Given the description of an element on the screen output the (x, y) to click on. 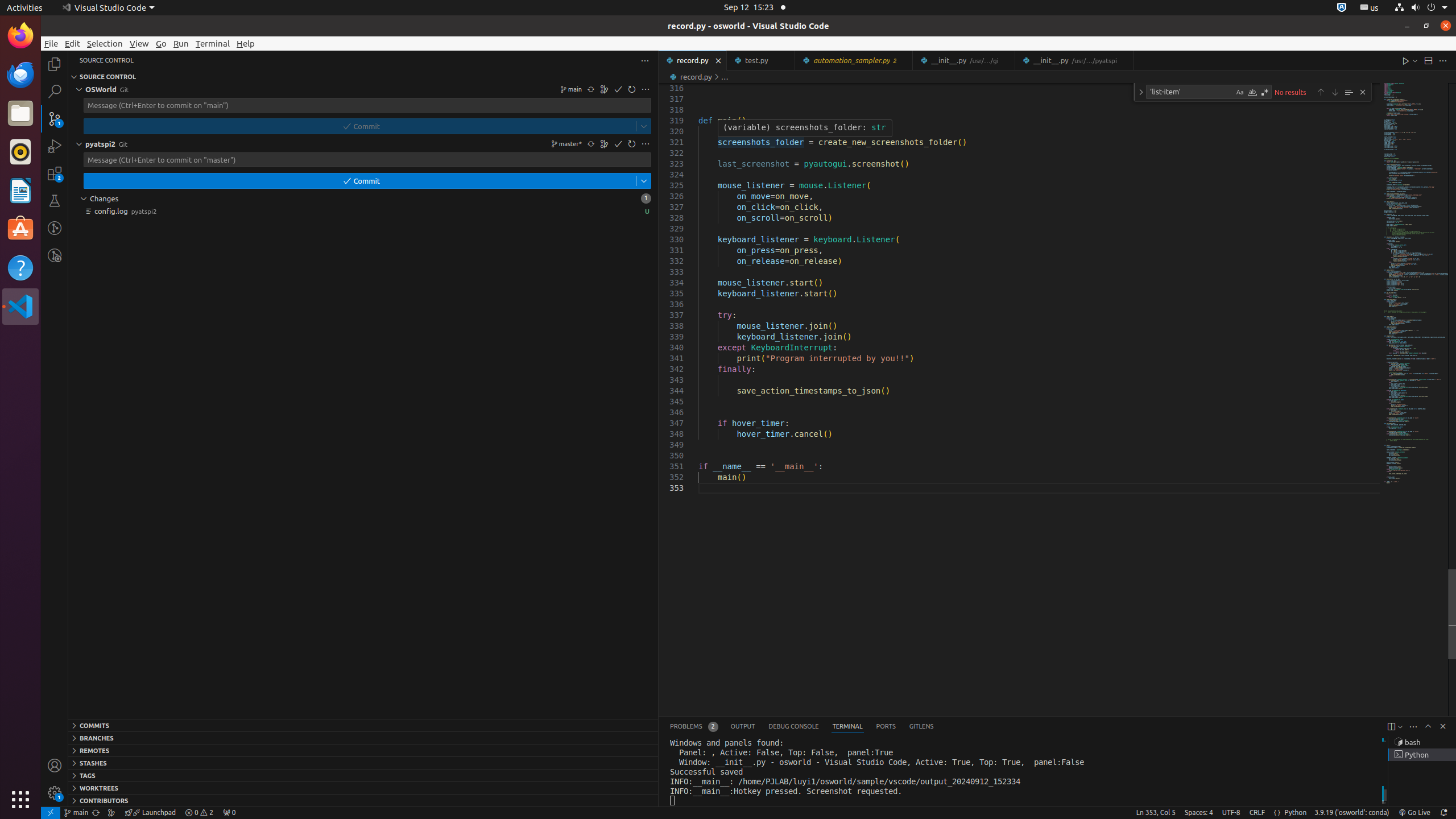
Views and More Actions... Element type: push-button (1413, 726)
rocket gitlens-unplug Launchpad, GitLens Launchpad ᴘʀᴇᴠɪᴇᴡ    &mdash;    [$(question)](command:gitlens.launchpad.indicator.action?%22info%22 "What is this?") [$(gear)](command:workbench.action.openSettings?%22gitlens.launchpad%22 "Settings")  |  [$(circle-slash) Hide](command:gitlens.launchpad.indicator.action?%22hide%22 "Hide") --- [Launchpad](command:gitlens.launchpad.indicator.action?%info%22 "Learn about Launchpad") organizes your pull requests into actionable groups to help you focus and keep your team unblocked. It's always accessible using the `GitLens: Open Launchpad` command from the Command Palette. --- [Connect an integration](command:gitlens.showLaunchpad?%7B%22source%22%3A%22launchpad-indicator%22%7D "Connect an integration") to get started. Element type: push-button (150, 812)
Go Element type: push-button (161, 43)
Find in Selection (Alt+L) Element type: check-box (1348, 91)
automation_sampler.py, preview Element type: page-tab (854, 60)
